Given the description of an element on the screen output the (x, y) to click on. 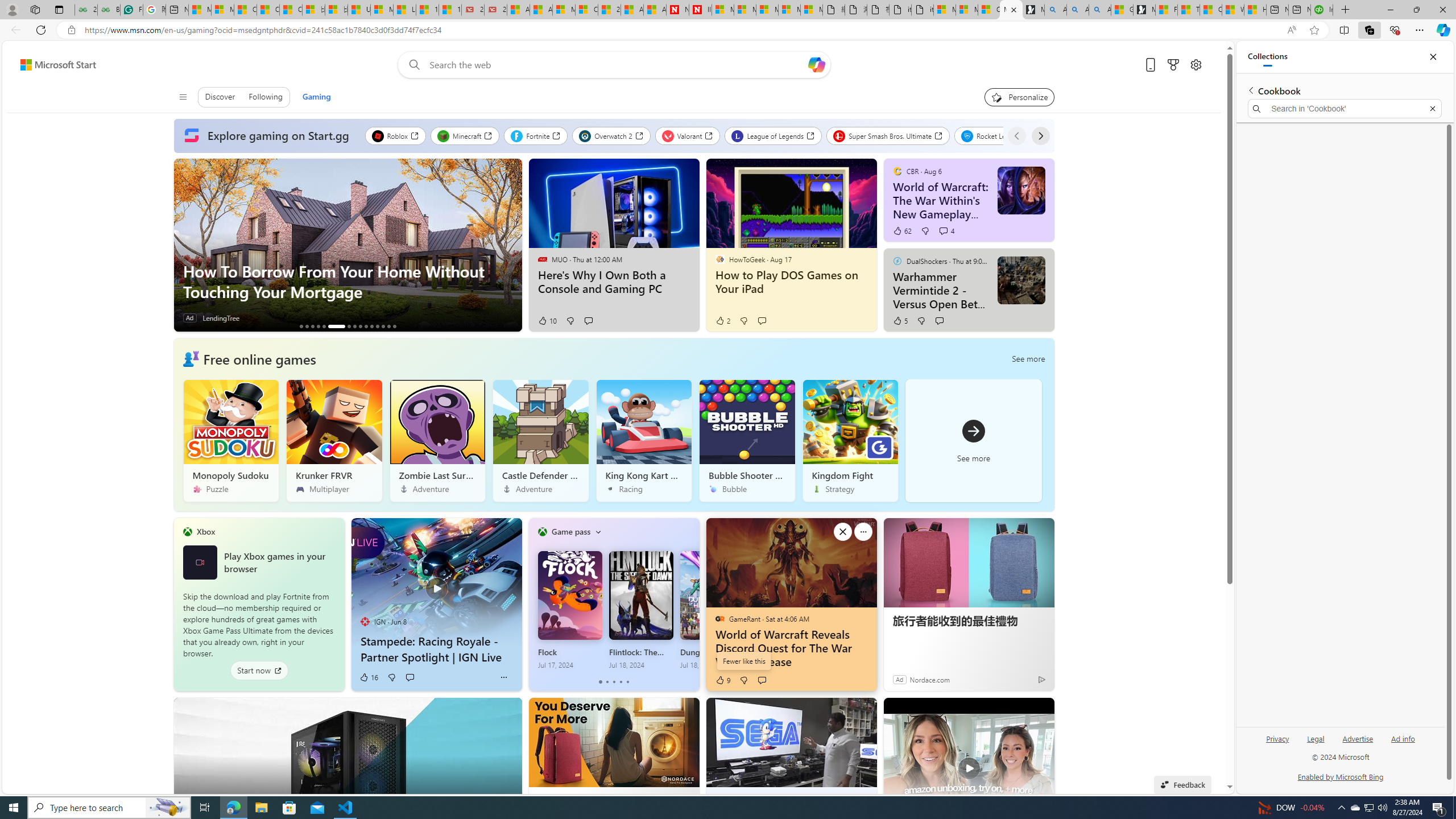
Super Smash Bros. Ultimate (888, 135)
Consumer Health Data Privacy Policy (988, 9)
CBR (897, 171)
Nordace.com (929, 678)
Game pass (570, 531)
How Shein Is Revolutionizing The Fashion Industry? (306, 326)
